Given the description of an element on the screen output the (x, y) to click on. 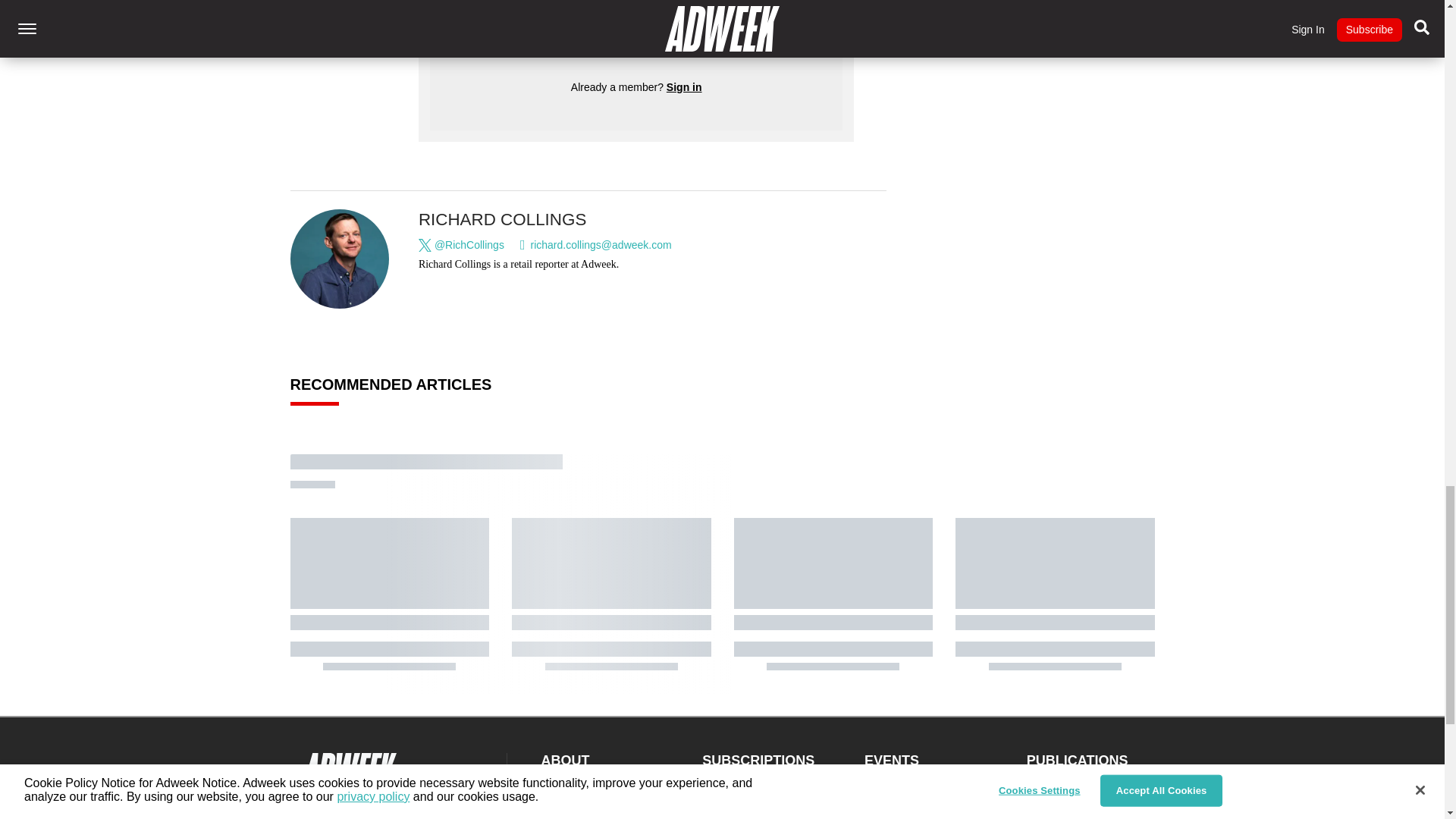
Richard Collings (339, 259)
Sign in (683, 87)
View Subscription Options (636, 32)
Adobe-Webinar-082224-Header (948, 14)
